Given the description of an element on the screen output the (x, y) to click on. 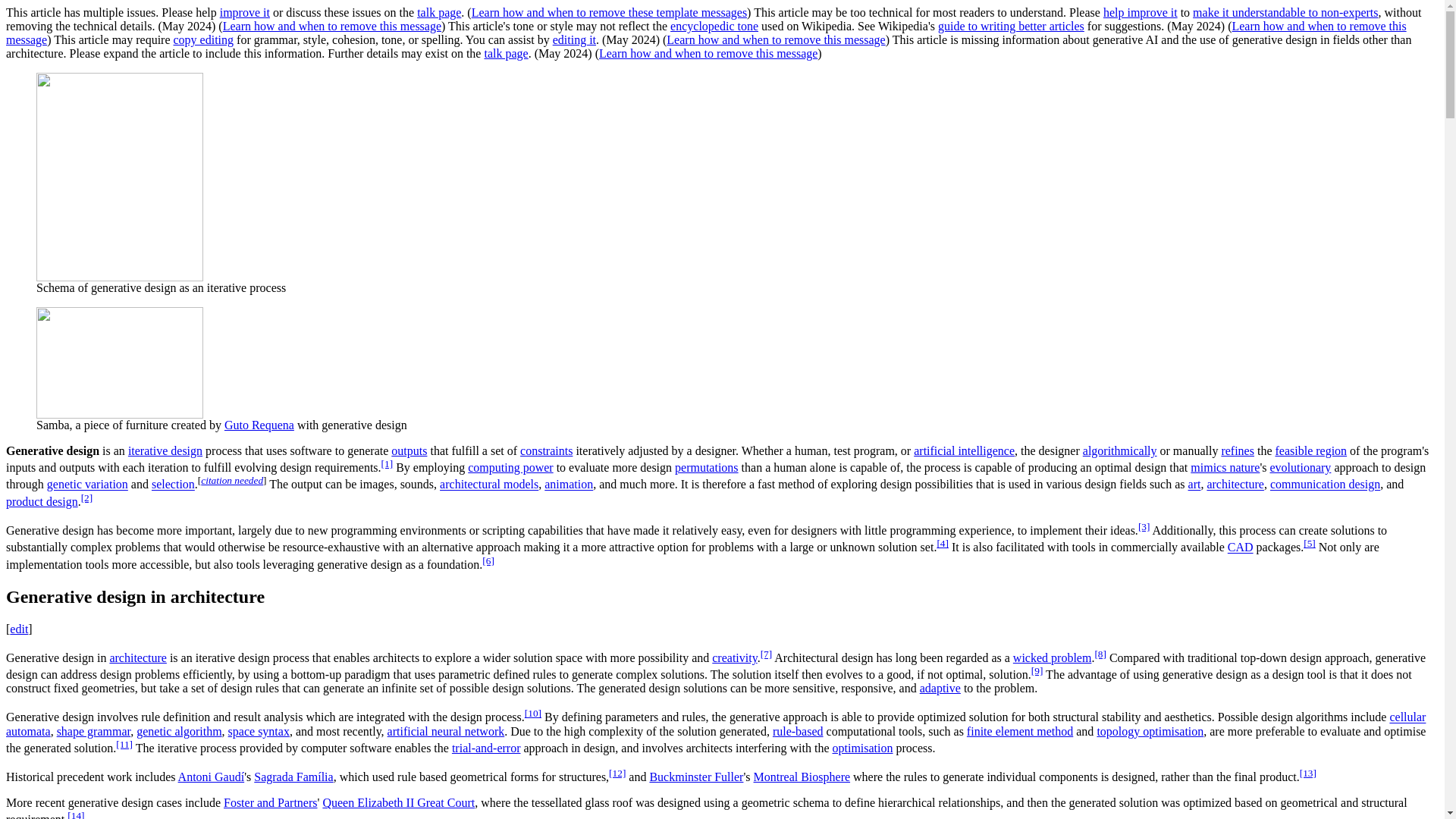
Iterative design (165, 450)
Animation (568, 484)
architectural models (488, 484)
help improve it (1140, 11)
Guto Requena (259, 424)
computing power (510, 467)
Guto Requena (259, 424)
Biomimetics (1225, 467)
Art (1194, 484)
talk page (505, 52)
outputs (408, 450)
editing it (574, 39)
copy editing (203, 39)
Artificial intelligence (964, 450)
mimics nature (1225, 467)
